Given the description of an element on the screen output the (x, y) to click on. 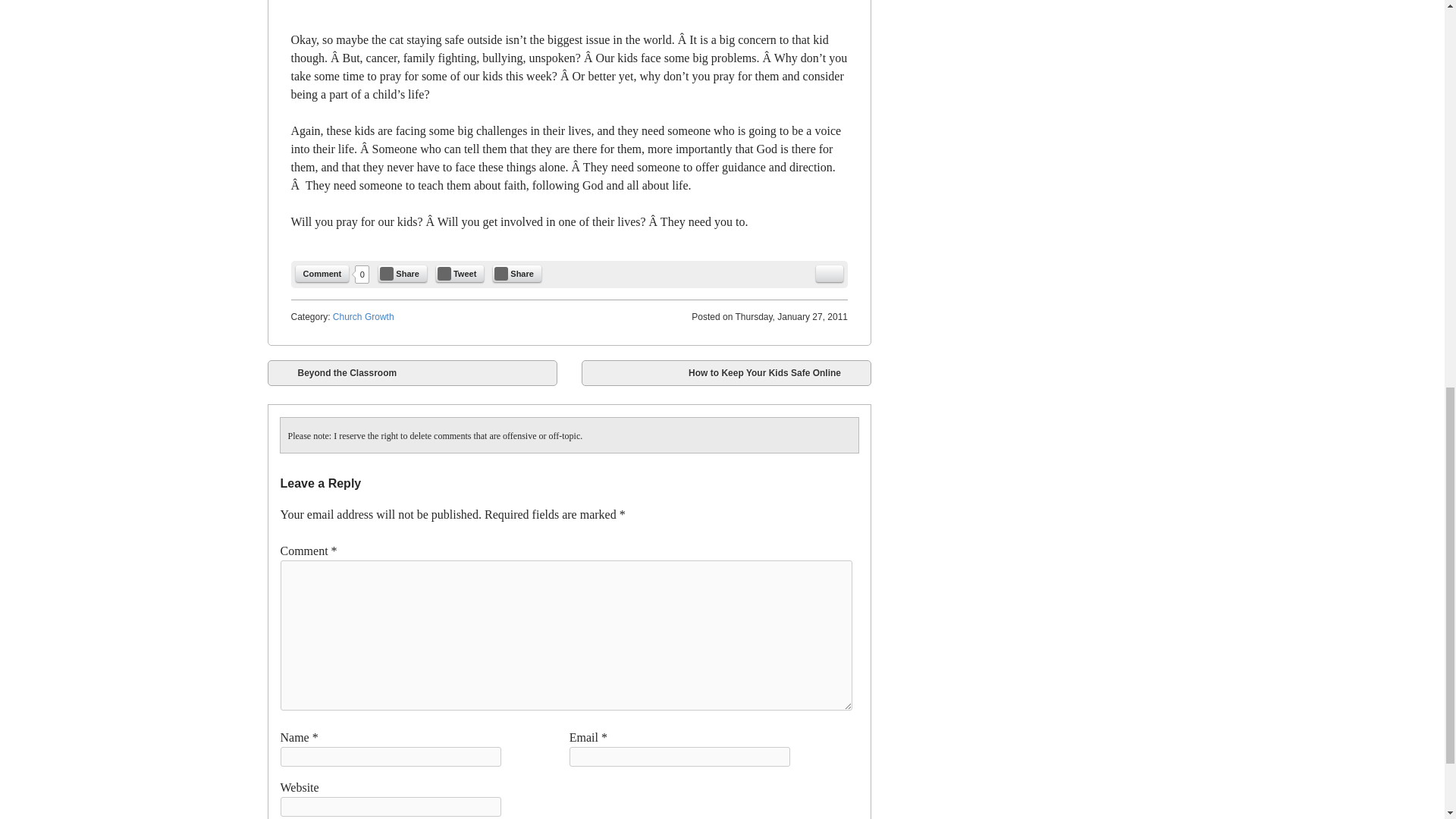
Comment on this Post (322, 273)
Share on Facebook (402, 273)
Share (517, 273)
Share (402, 273)
Tweet (459, 273)
email (829, 273)
prayerrequests (568, 6)
Comment (322, 273)
Share on LinkedIn (517, 273)
Tweet this Post (459, 273)
